Given the description of an element on the screen output the (x, y) to click on. 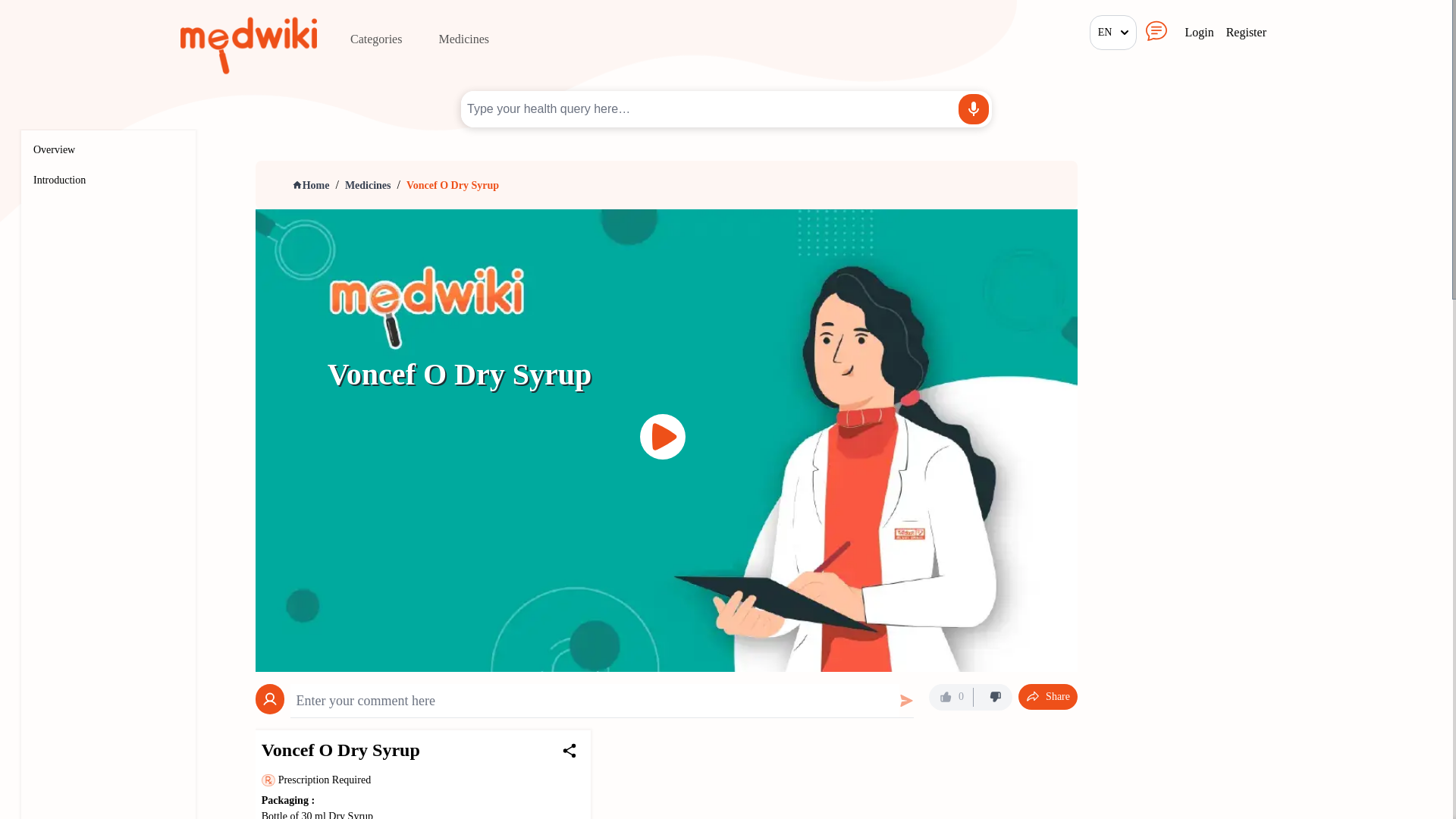
Home (310, 185)
Medicines (463, 39)
Register (1246, 32)
Medicines (368, 185)
Voncef O Dry Syrup (452, 185)
Login (1198, 32)
Overview (54, 150)
Categories (375, 39)
Introduction (59, 180)
EN (1113, 32)
